Given the description of an element on the screen output the (x, y) to click on. 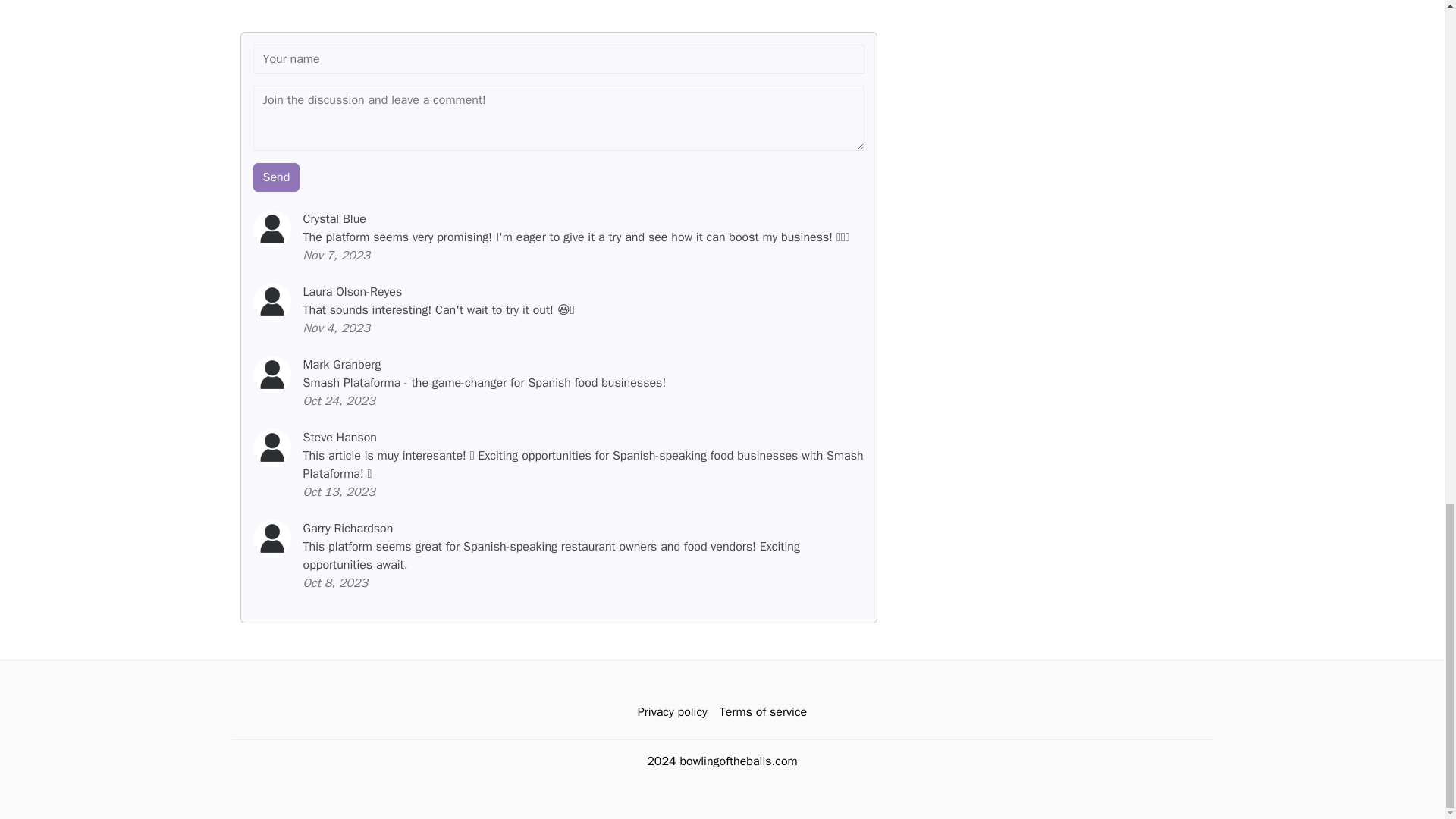
Privacy policy (672, 711)
Send (276, 176)
Send (276, 176)
Terms of service (762, 711)
